Given the description of an element on the screen output the (x, y) to click on. 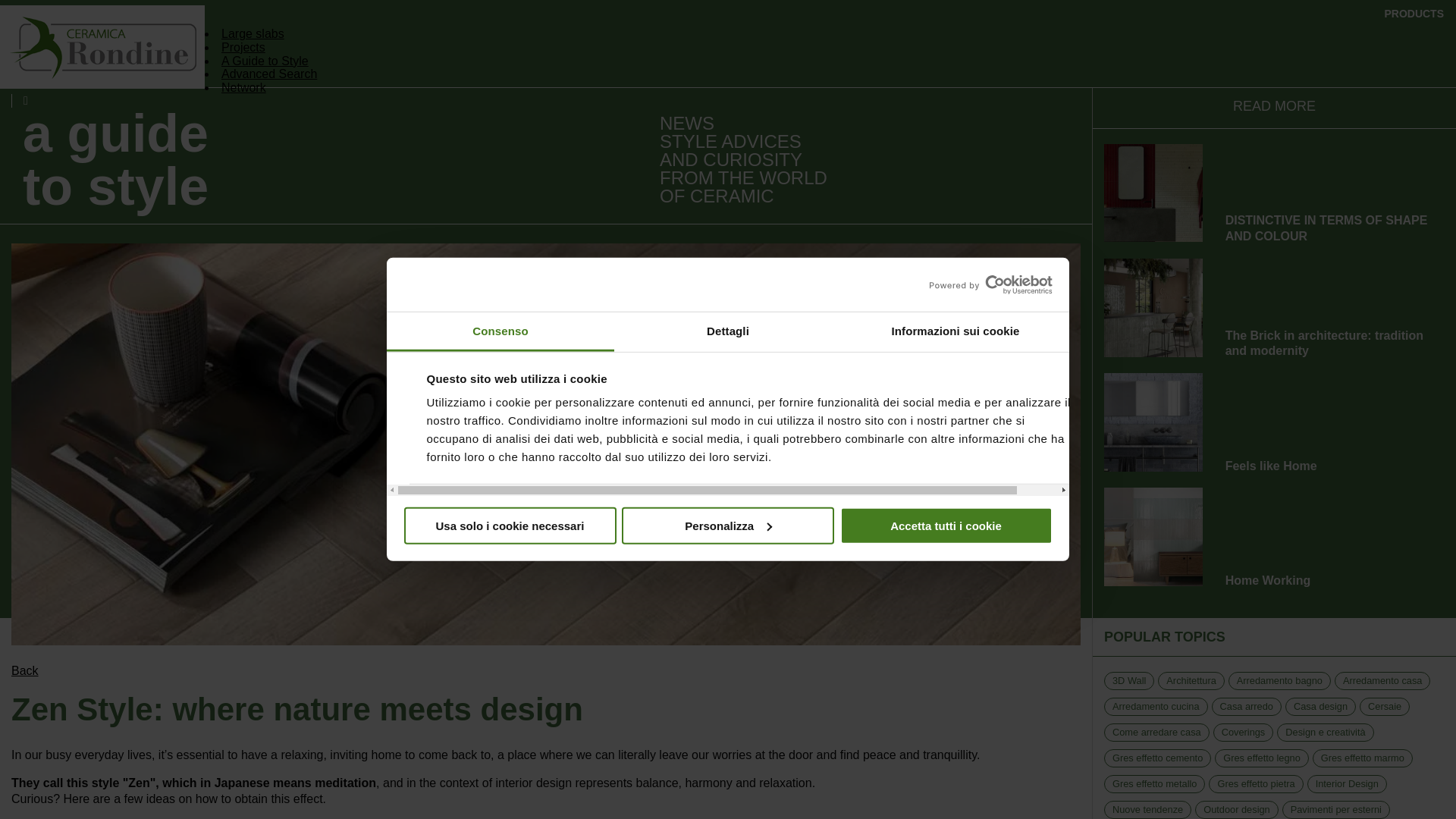
Dettagli (727, 332)
Consenso (500, 332)
Informazioni sui cookie (954, 332)
